Given the description of an element on the screen output the (x, y) to click on. 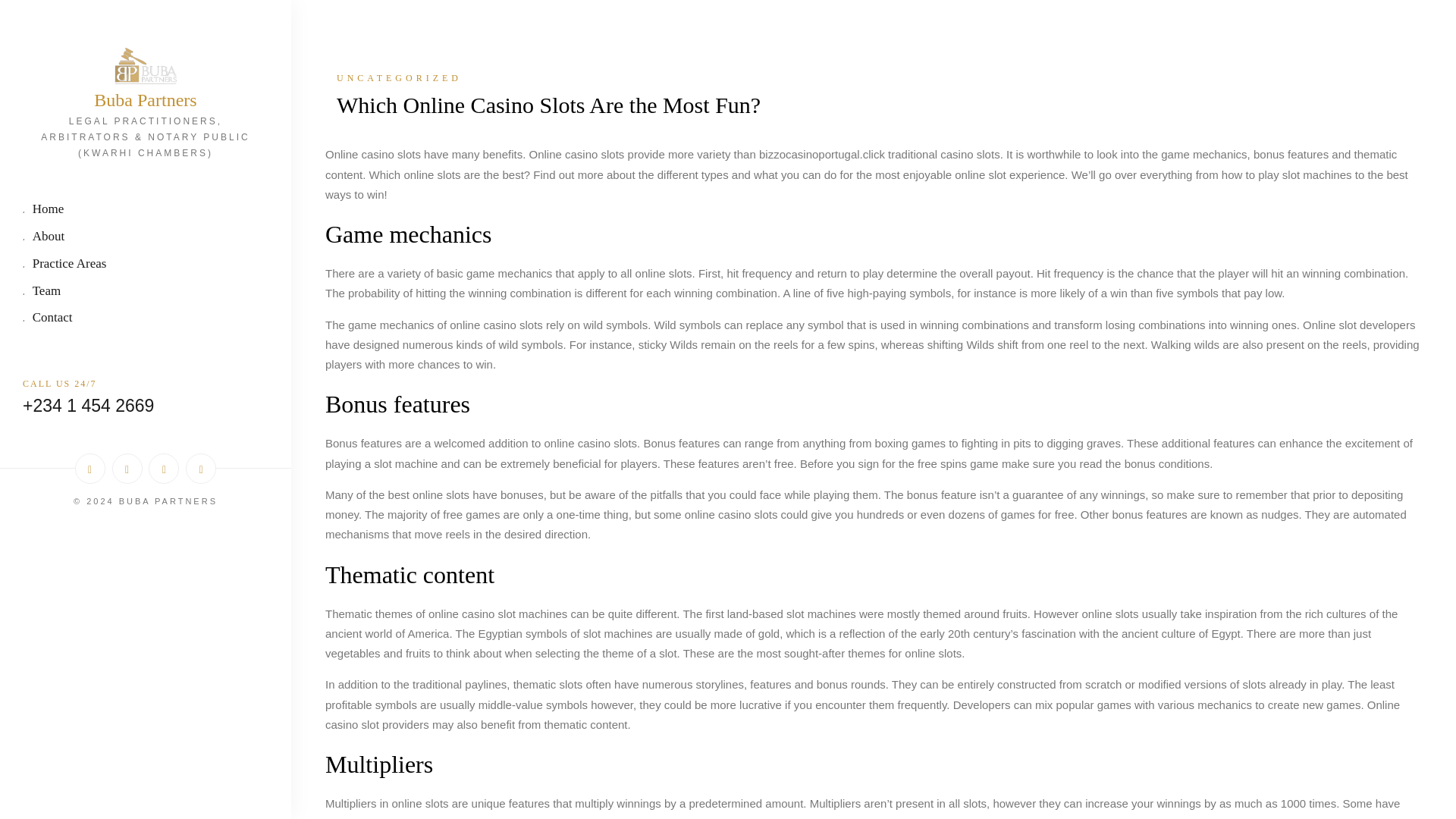
About (145, 237)
Practice Areas (145, 264)
Practice Areas (145, 264)
bizzocasinoportugal.click (821, 154)
Team (145, 292)
Contact (145, 318)
About (145, 237)
Buba Partners (145, 99)
Team (145, 292)
Contact (145, 318)
Home (145, 210)
Home (145, 210)
uncategorized (871, 77)
